Given the description of an element on the screen output the (x, y) to click on. 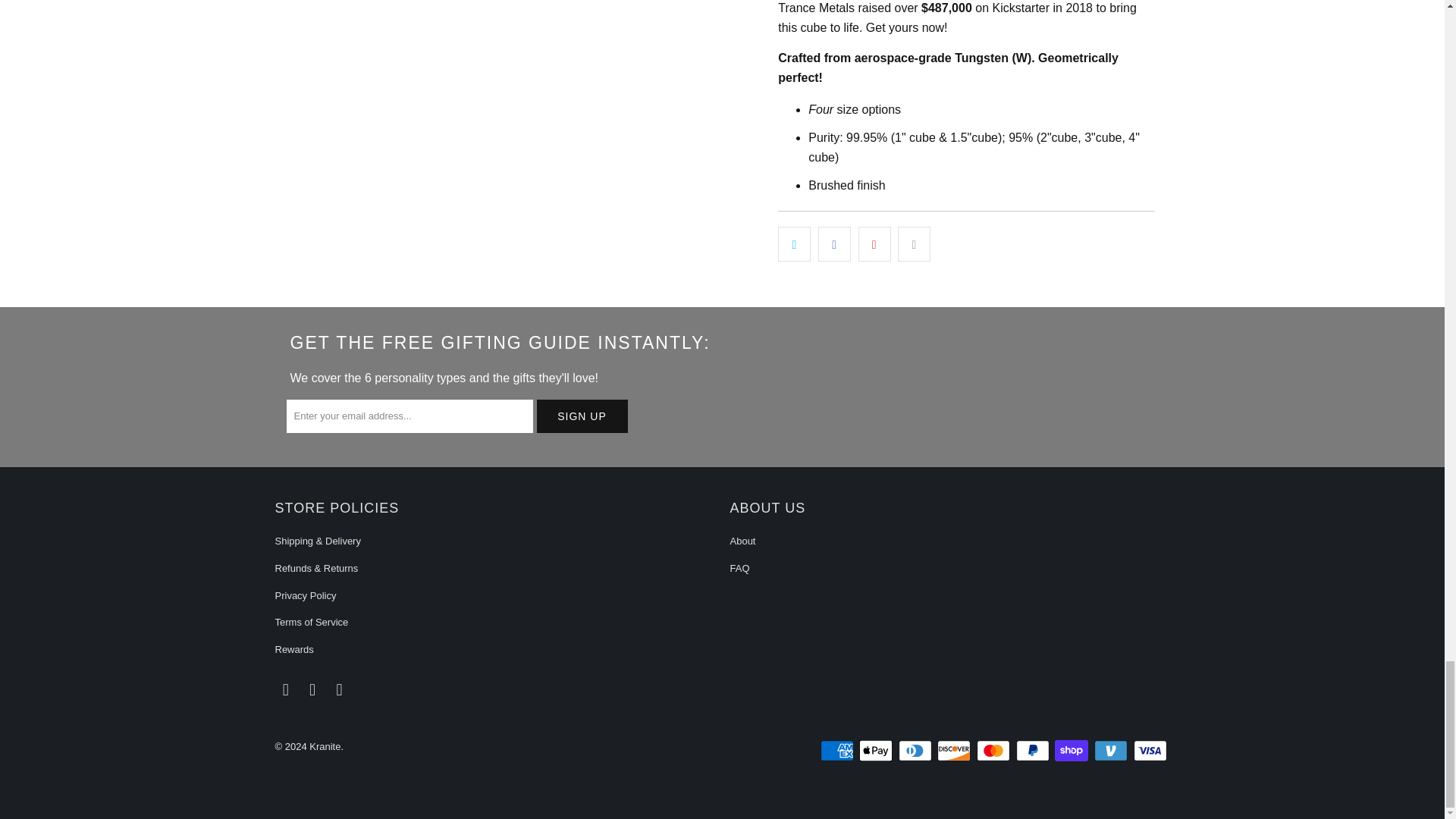
Share this on Facebook (834, 243)
Mastercard (994, 750)
Visa (1150, 750)
Email this to a friend (914, 243)
Kranite on Facebook (286, 689)
Venmo (1112, 750)
Diners Club (916, 750)
American Express (839, 750)
PayPal (1034, 750)
Kranite on Instagram (312, 689)
